Given the description of an element on the screen output the (x, y) to click on. 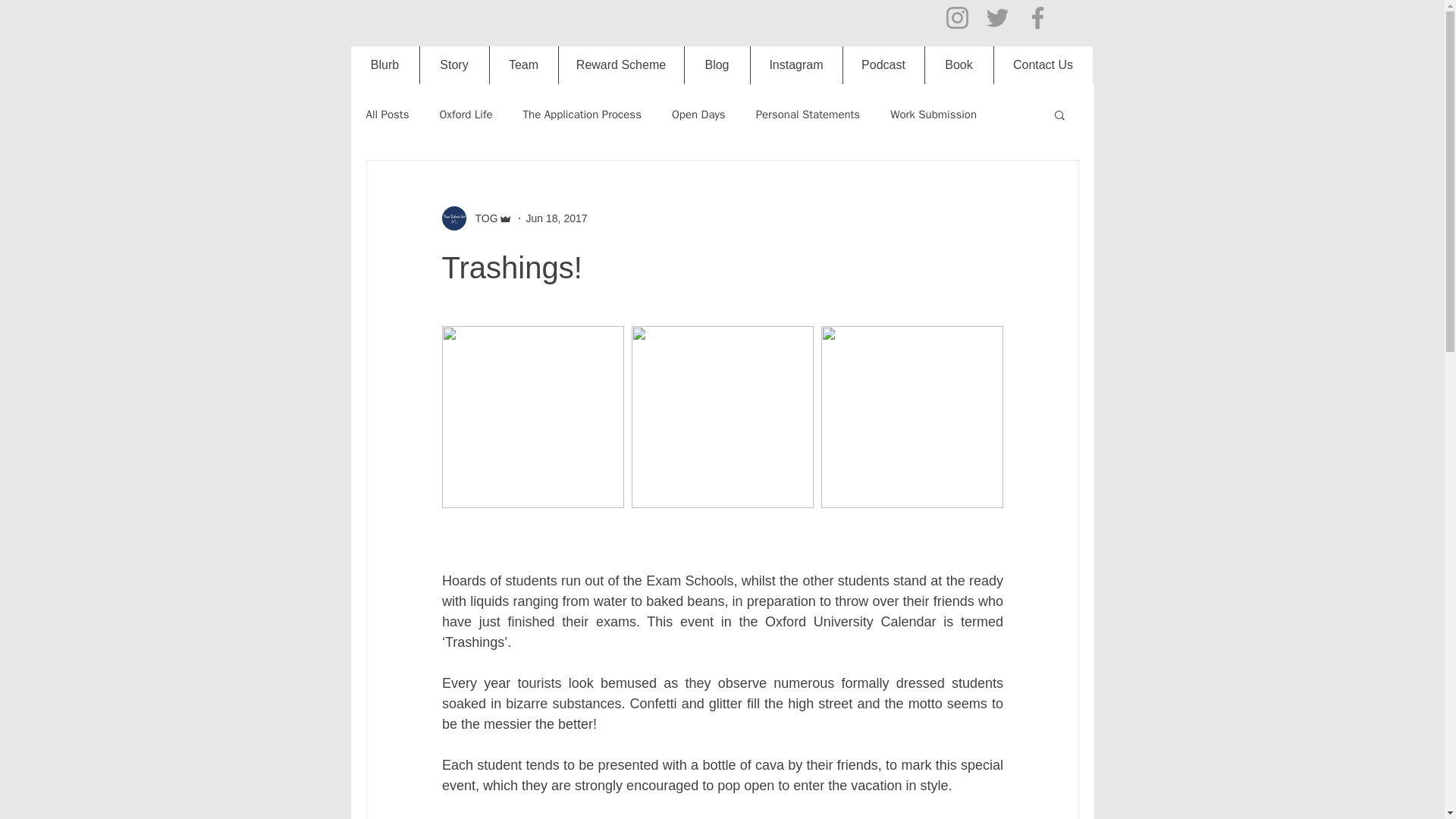
Story (453, 64)
Instagram (795, 64)
Team (522, 64)
Book (957, 64)
Personal Statements (807, 114)
Blog (716, 64)
Oxford Life (465, 114)
Jun 18, 2017 (556, 218)
Work Submission (932, 114)
Open Days (698, 114)
